Given the description of an element on the screen output the (x, y) to click on. 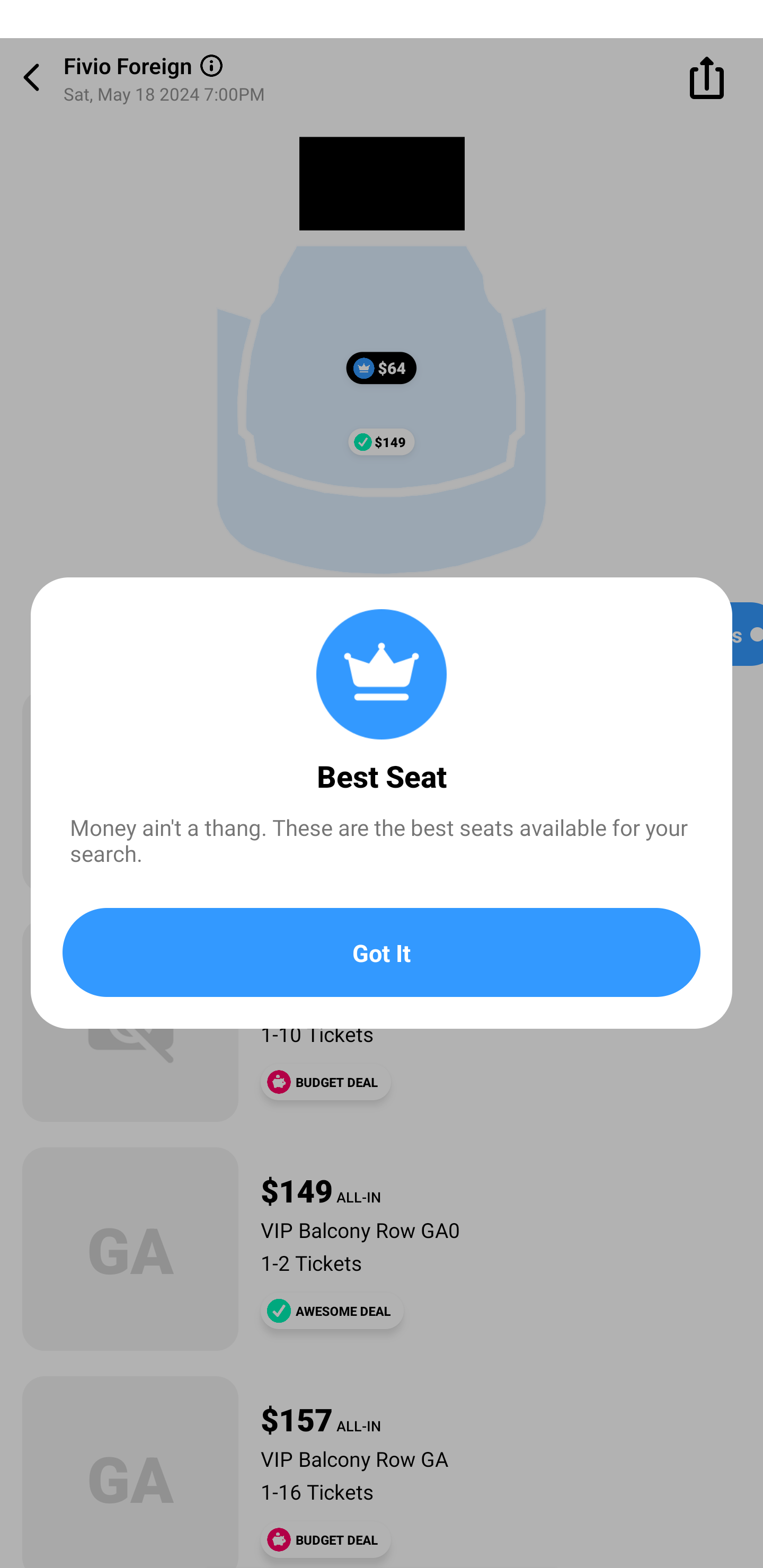
Got It (381, 952)
